Given the description of an element on the screen output the (x, y) to click on. 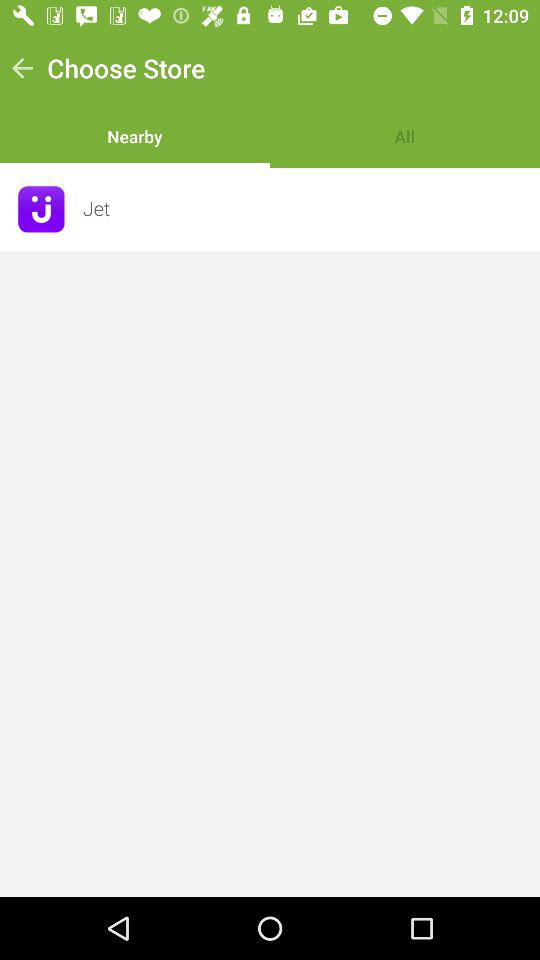
open item to the left of jet icon (41, 209)
